Given the description of an element on the screen output the (x, y) to click on. 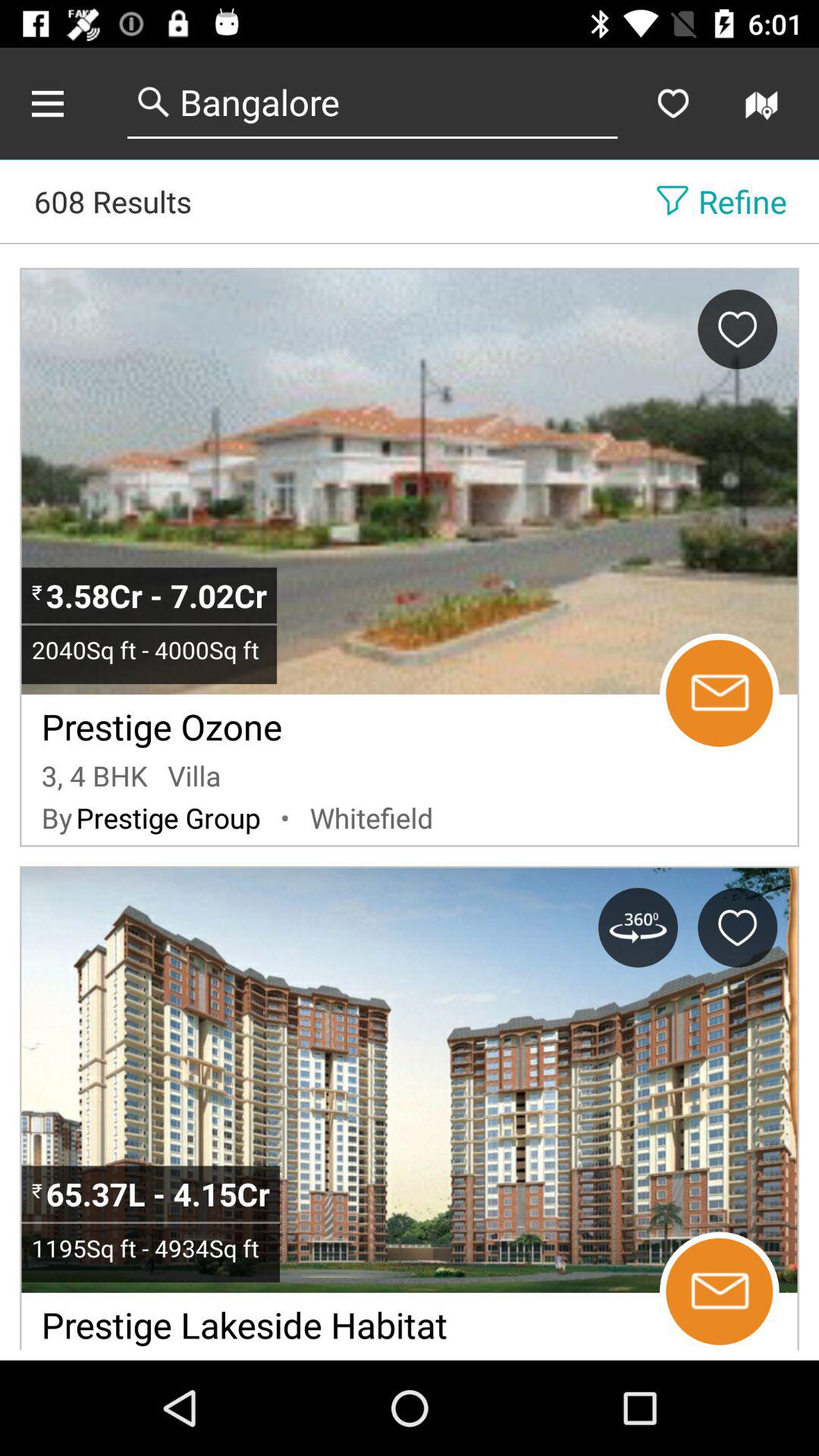
sows massage icon (719, 693)
